Given the description of an element on the screen output the (x, y) to click on. 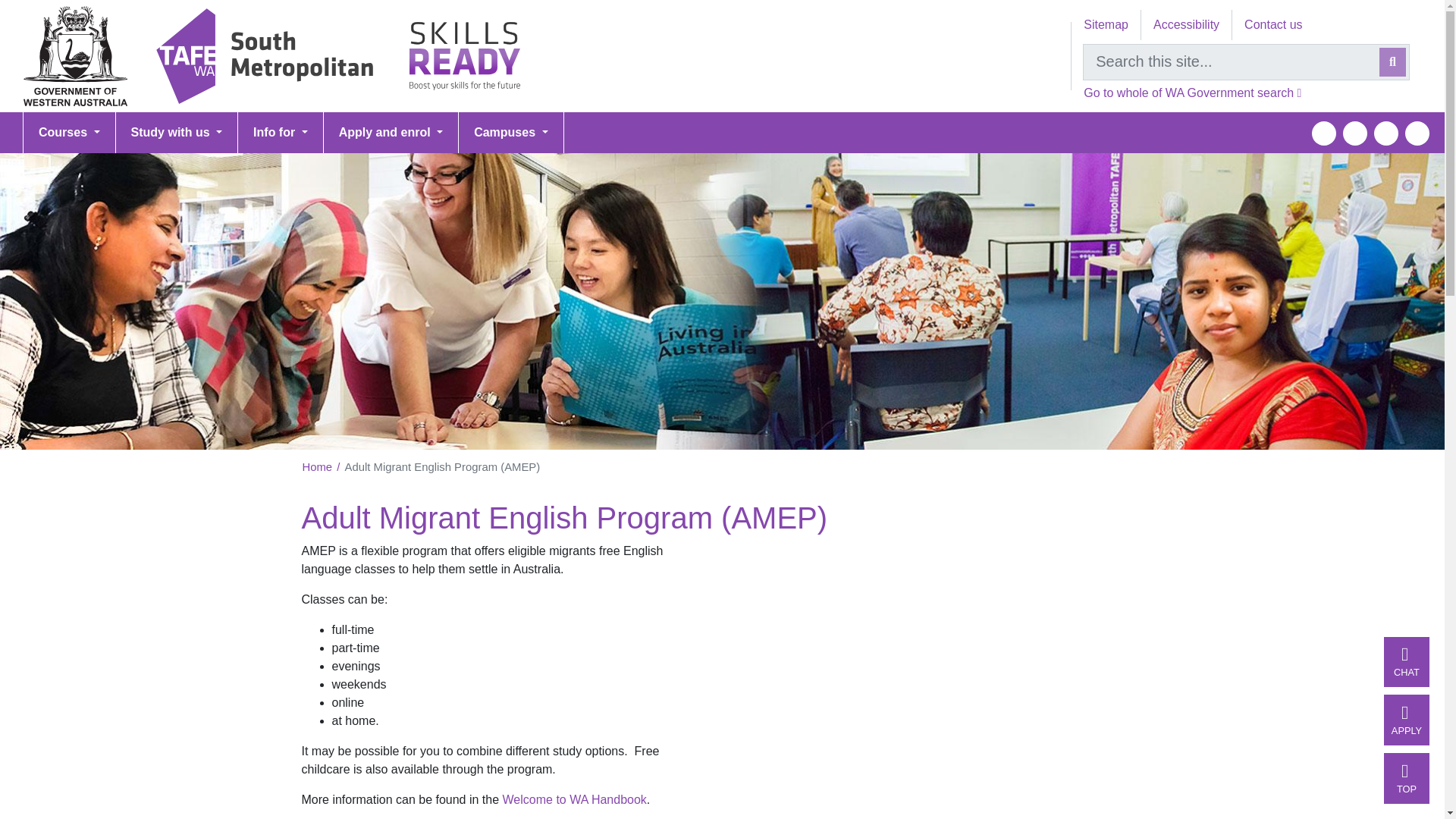
Sitemap (1105, 24)
Search (1392, 61)
Go to whole of WA Government search (1192, 92)
Courses (69, 132)
Accessibility (1186, 24)
Contact us (1272, 24)
Study with us (177, 132)
